Given the description of an element on the screen output the (x, y) to click on. 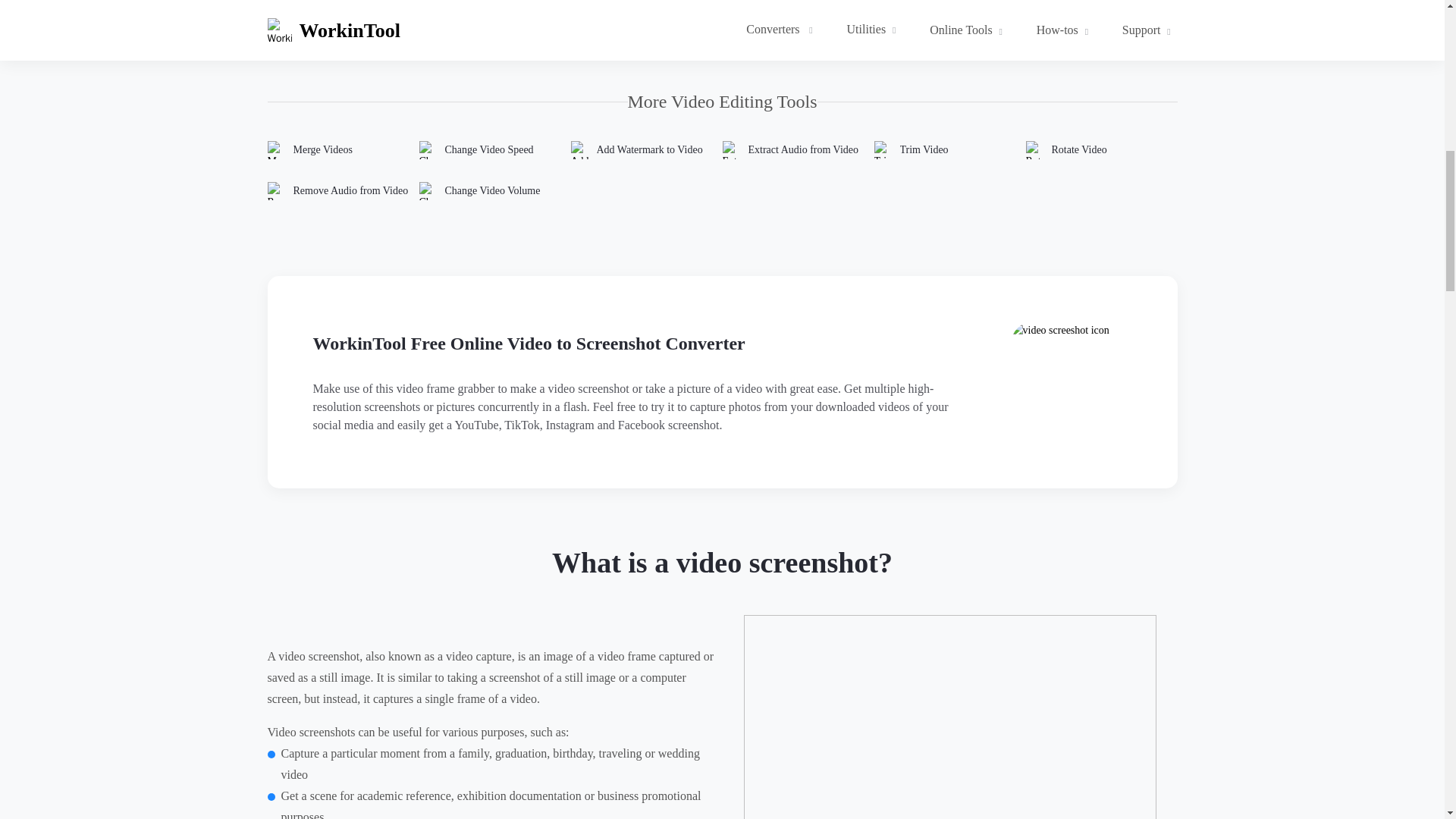
Change Video Volume (494, 190)
Add Watermark to Video (646, 149)
Trim Video (949, 149)
Rotate Video (1100, 149)
Extract Audio from Video (797, 149)
Change Video Speed (494, 149)
Remove Audio from Video (342, 190)
Merge Videos (342, 149)
